Given the description of an element on the screen output the (x, y) to click on. 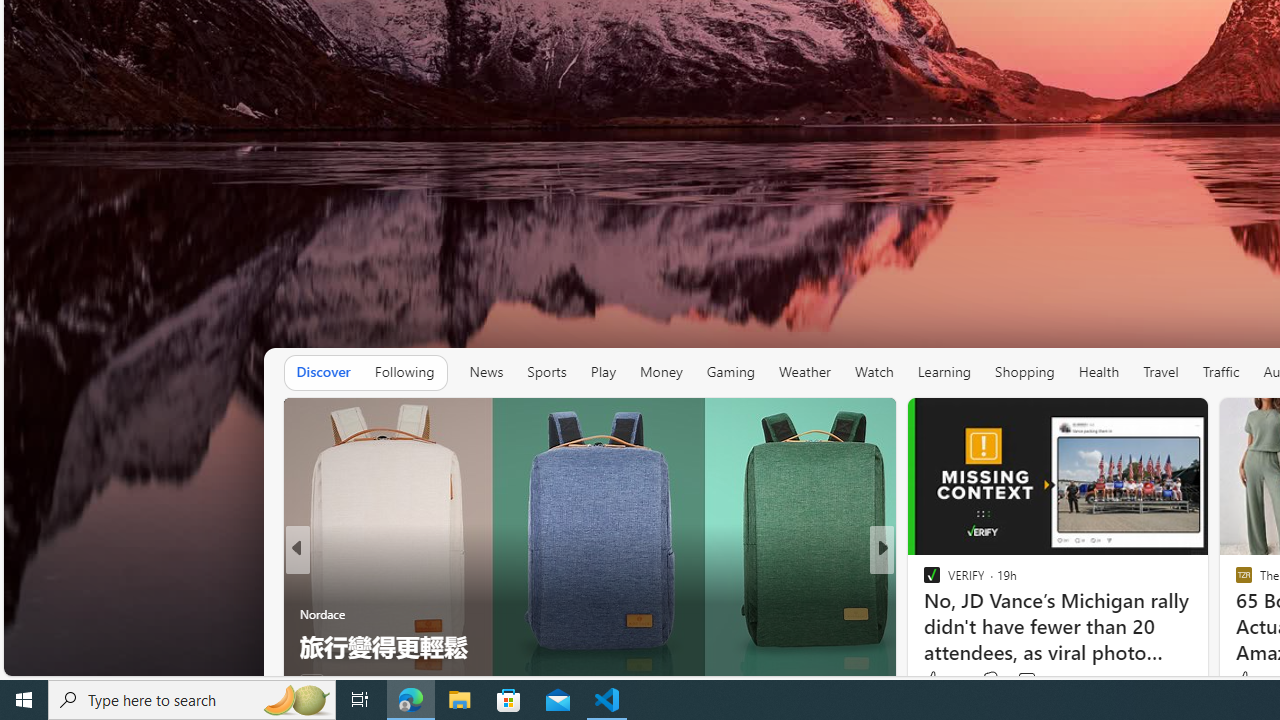
View comments 17 Comment (1019, 681)
Shopping (1025, 371)
View comments 38 Comment (1013, 681)
Sports (546, 372)
40 Like (934, 681)
View comments 18 Comment (1029, 681)
Deadline (307, 581)
Fadeaway World (923, 581)
Watch (874, 371)
295 Like (936, 681)
NBC News (923, 581)
Gaming (730, 372)
View comments 18 Comment (1019, 681)
